Given the description of an element on the screen output the (x, y) to click on. 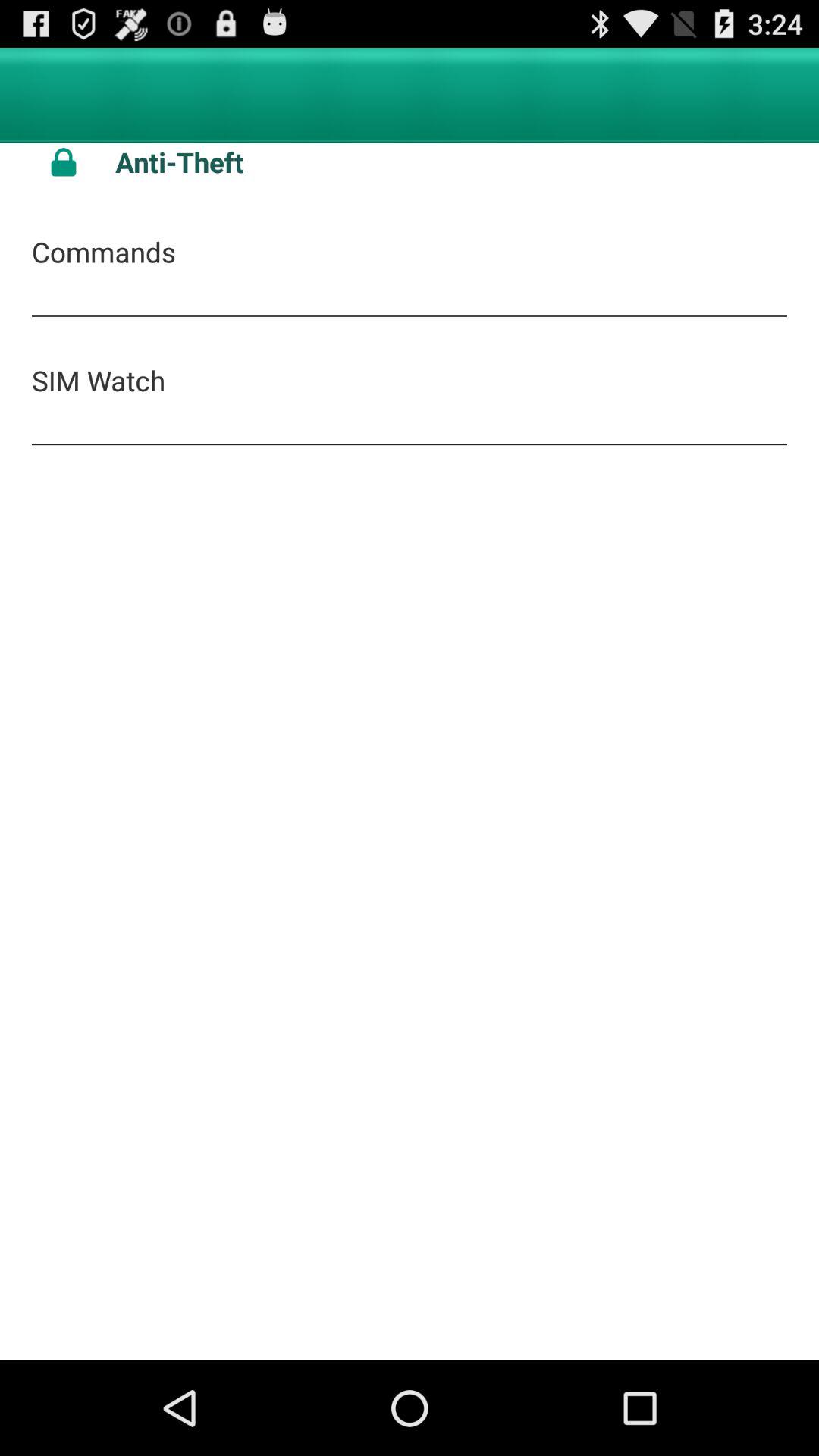
tap the icon above the commands icon (63, 161)
